Given the description of an element on the screen output the (x, y) to click on. 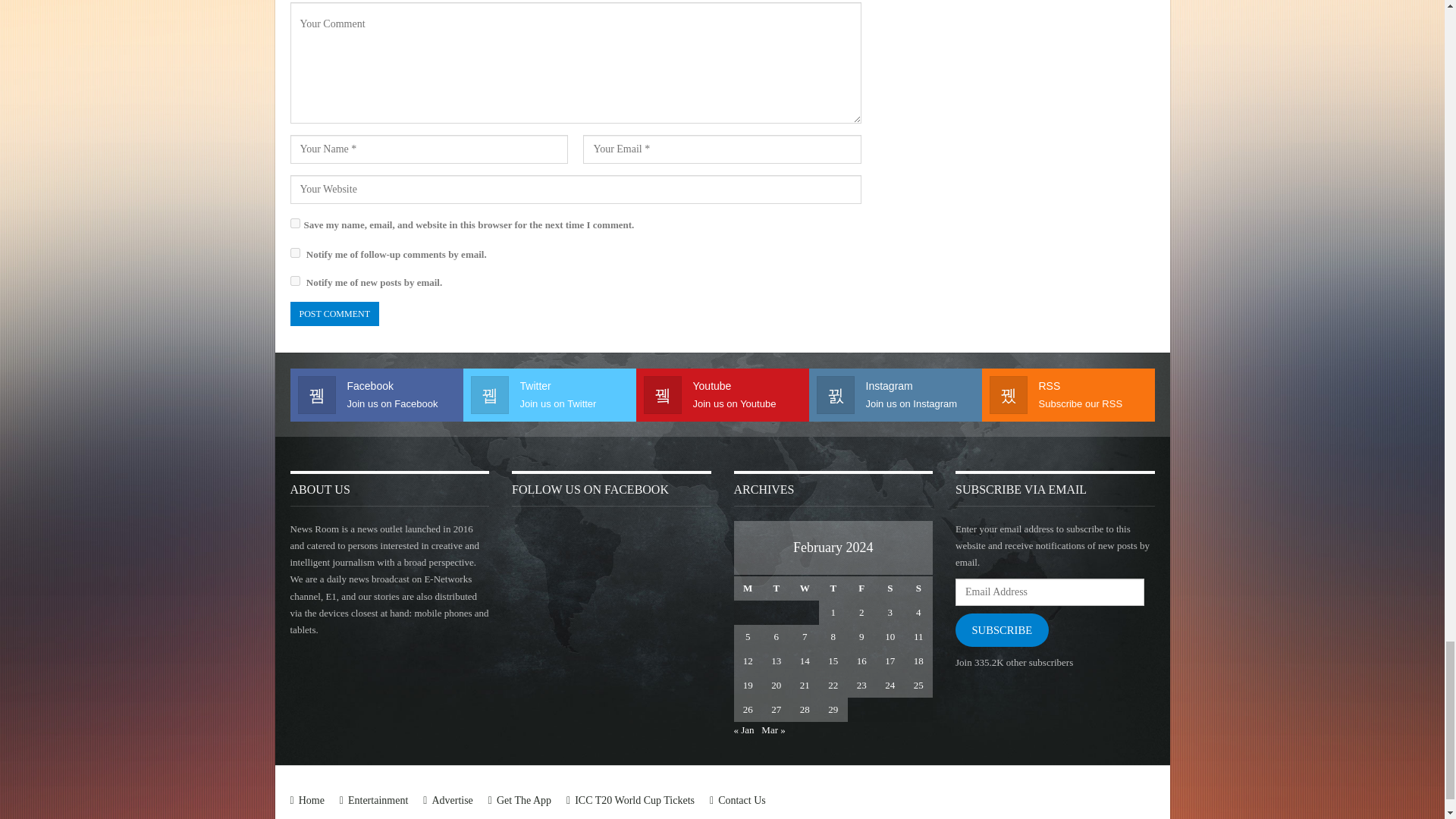
subscribe (294, 280)
yes (294, 223)
Post Comment (333, 314)
subscribe (294, 252)
